Given the description of an element on the screen output the (x, y) to click on. 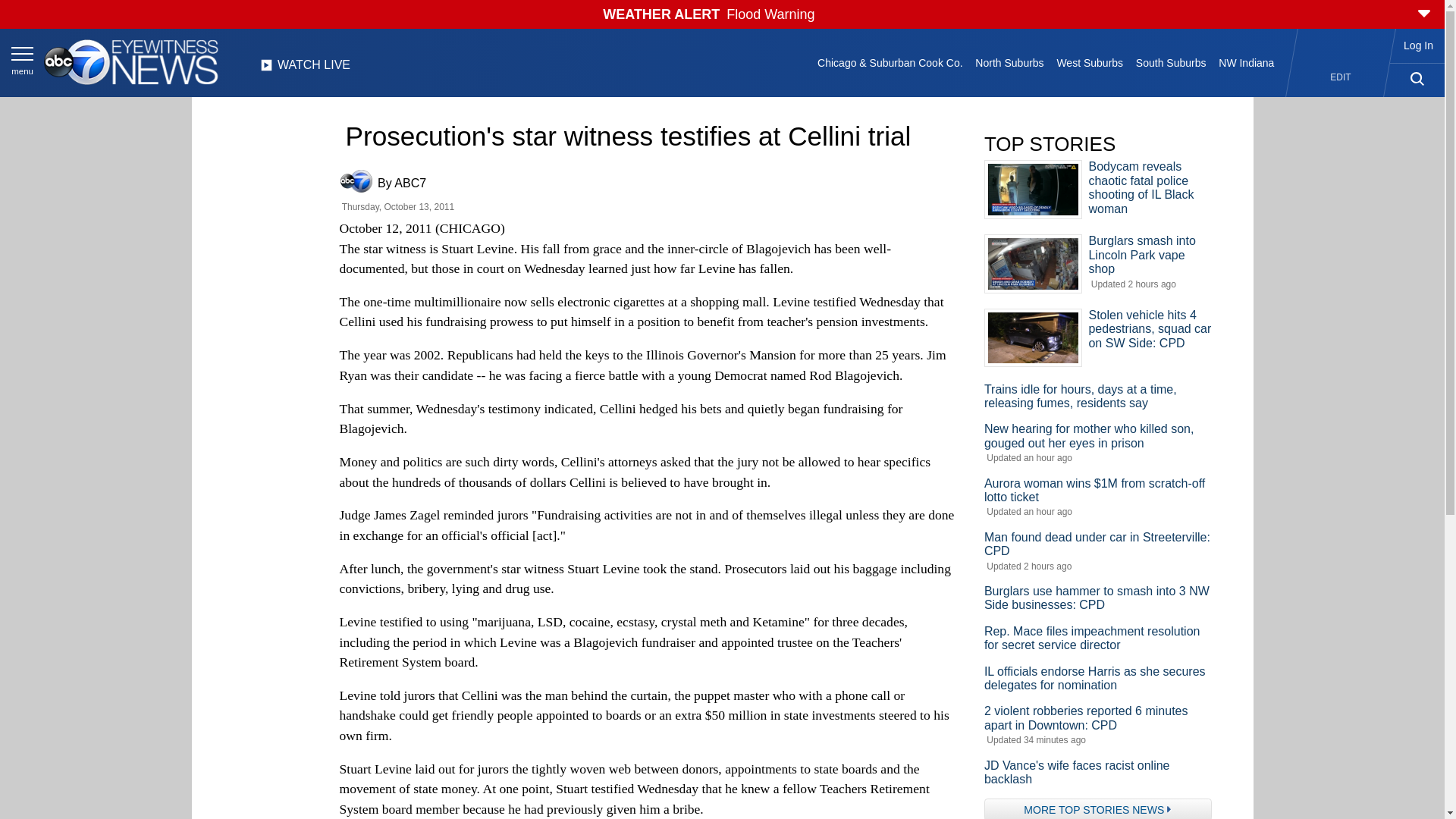
WATCH LIVE (305, 69)
EDIT (1340, 77)
West Suburbs (1089, 62)
North Suburbs (1009, 62)
NW Indiana (1246, 62)
South Suburbs (1170, 62)
